Given the description of an element on the screen output the (x, y) to click on. 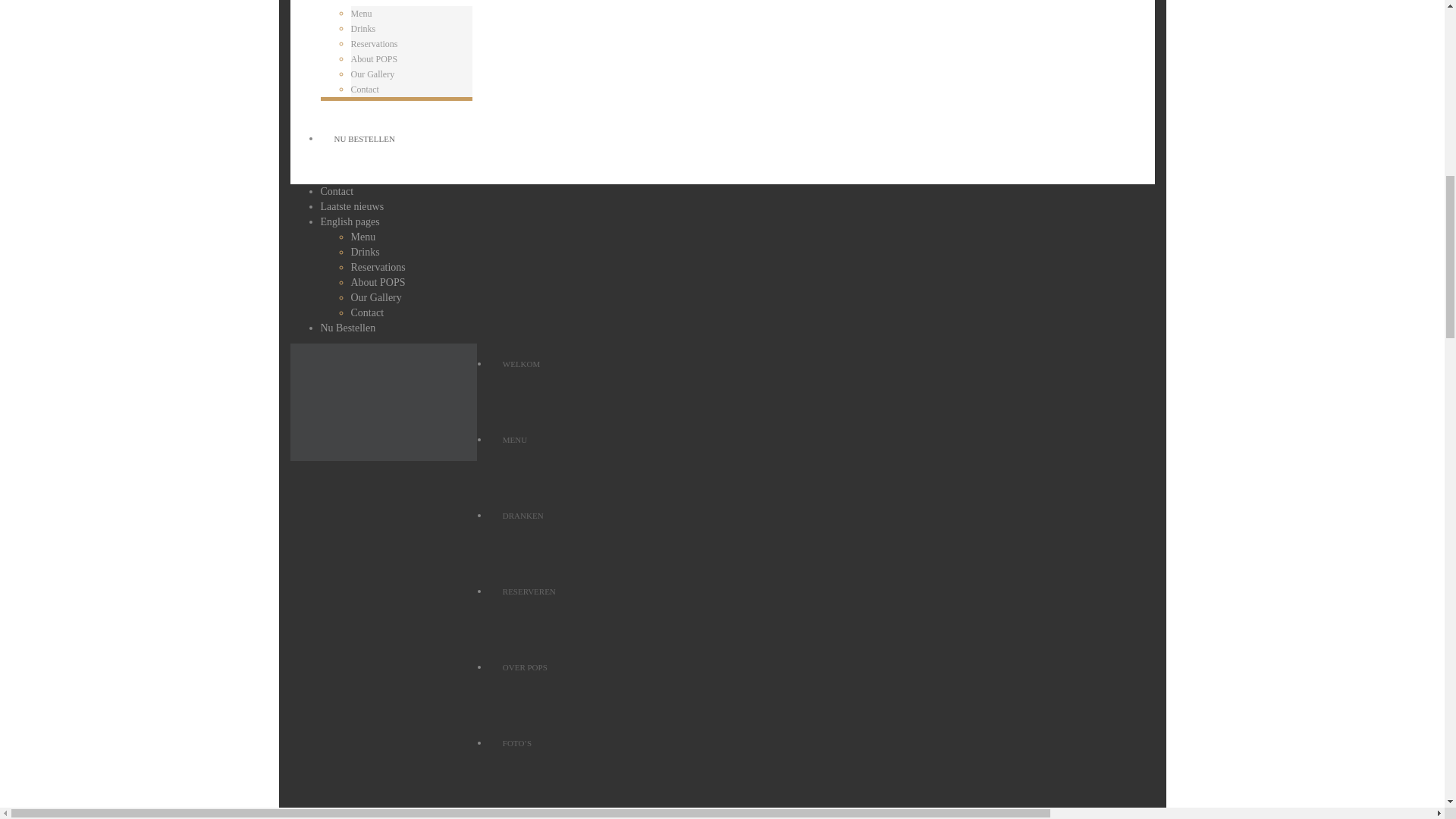
Drinks (362, 28)
WELKOM (821, 381)
Menu (362, 236)
Contact (364, 89)
NU BESTELLEN (363, 138)
English pages (349, 221)
Nu Bestellen (347, 327)
About POPS (377, 282)
Contact (367, 312)
About POPS (373, 59)
DRANKEN (821, 532)
Menu (360, 13)
Our Gallery (375, 297)
Our Gallery (372, 73)
MENU (821, 457)
